Given the description of an element on the screen output the (x, y) to click on. 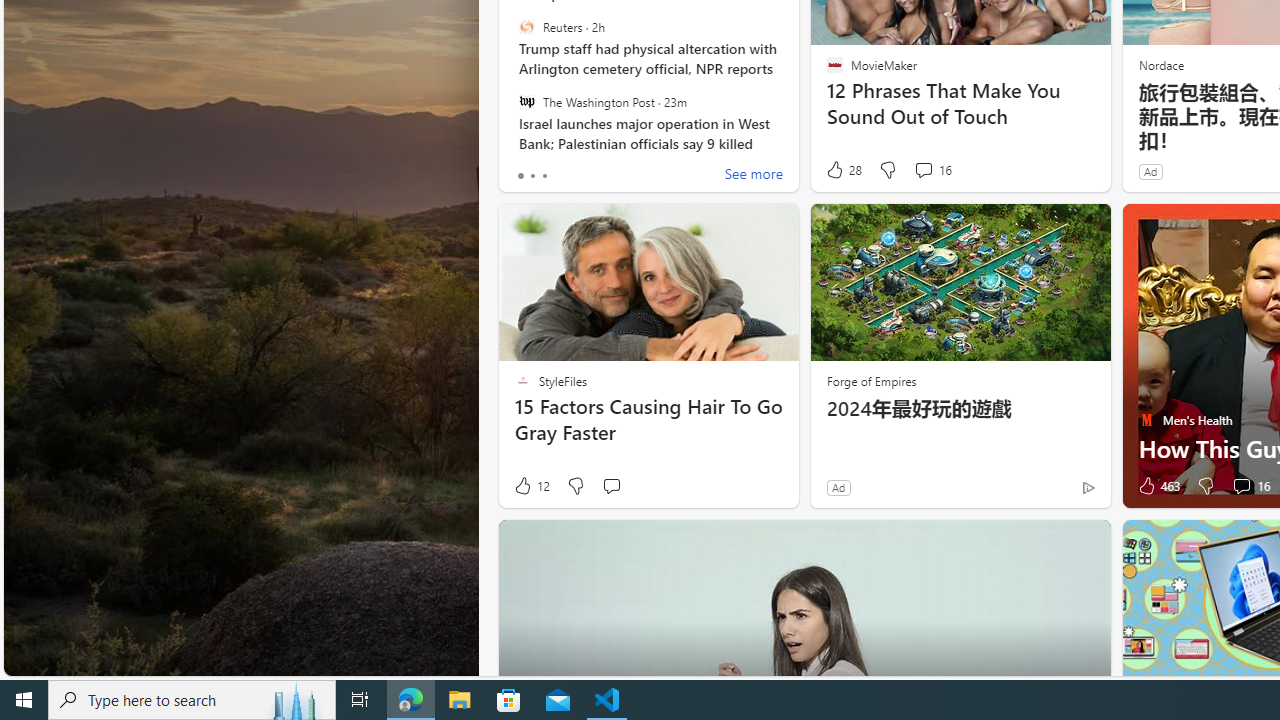
tab-1 (532, 175)
Reuters (526, 27)
28 Like (843, 170)
View comments 16 Comment (1241, 485)
The Washington Post (526, 101)
tab-0 (520, 175)
View comments 16 Comment (1249, 485)
